Given the description of an element on the screen output the (x, y) to click on. 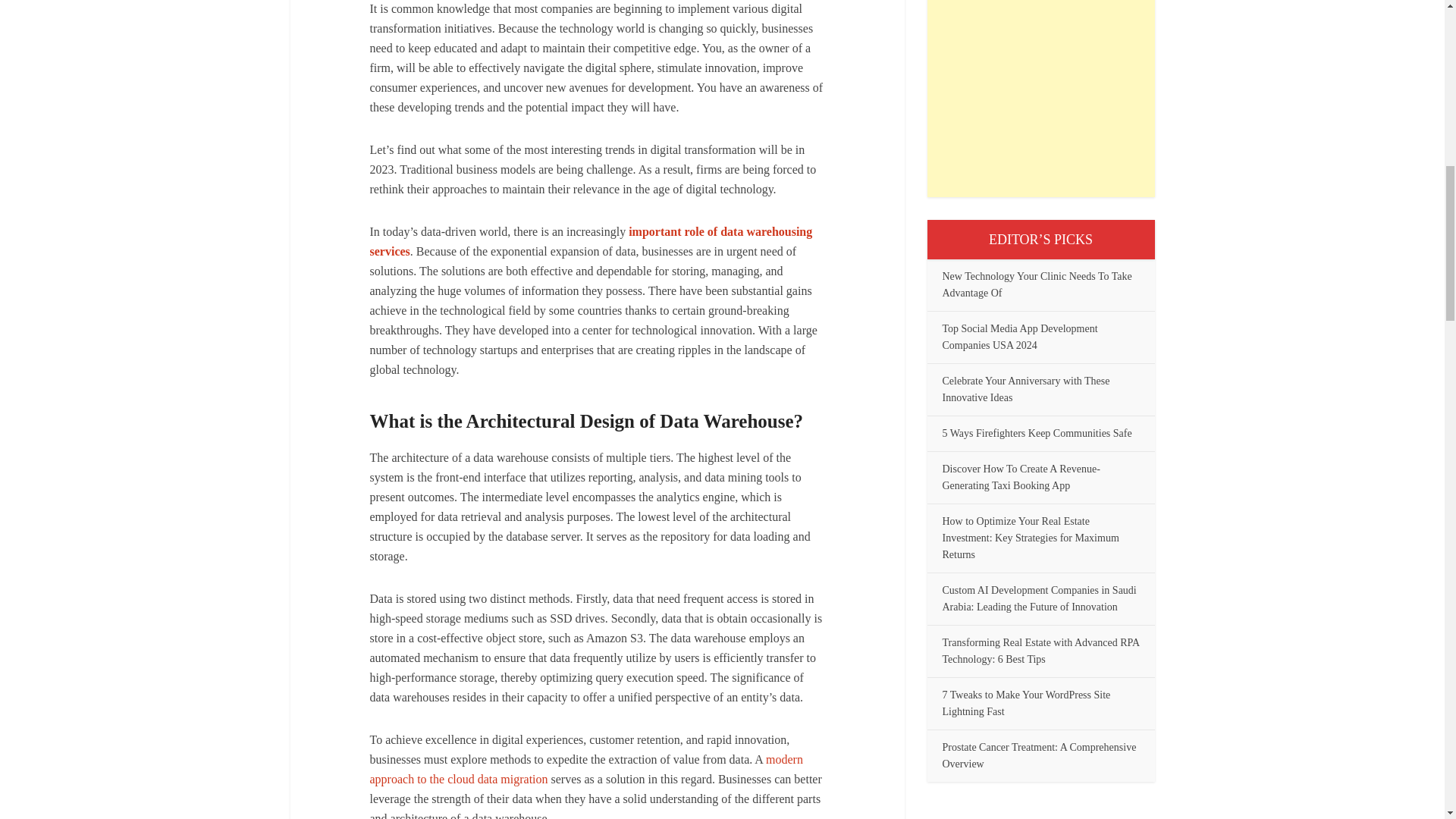
important role of data warehousing services (590, 240)
modern approach to the cloud data migration (586, 768)
Advertisement (1040, 98)
Top Social Media App Development Companies USA 2024 (1019, 336)
New Technology Your Clinic Needs To Take Advantage Of (1036, 284)
